Given the description of an element on the screen output the (x, y) to click on. 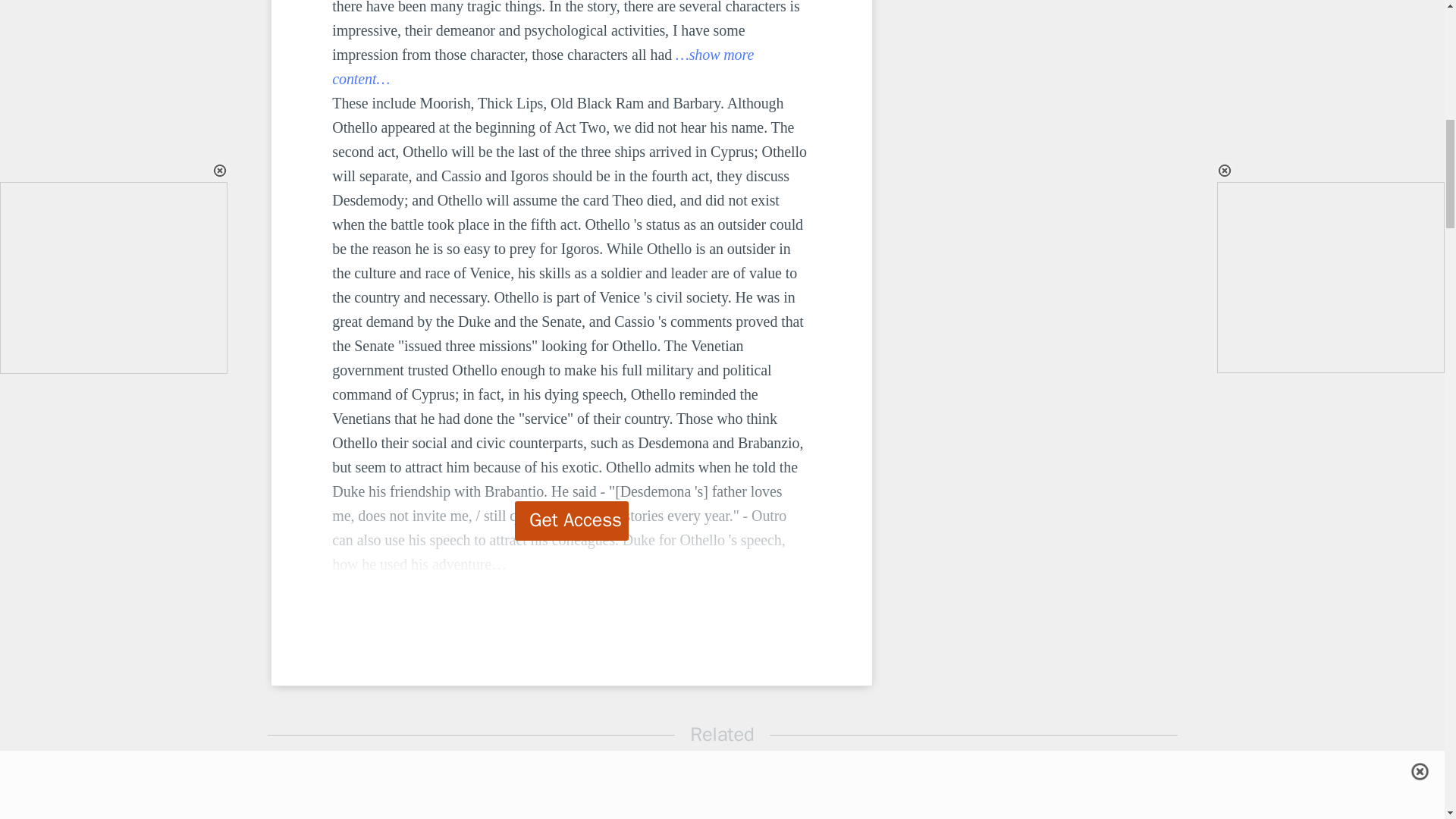
3rd party ad content (997, 106)
Get Access (571, 520)
